Given the description of an element on the screen output the (x, y) to click on. 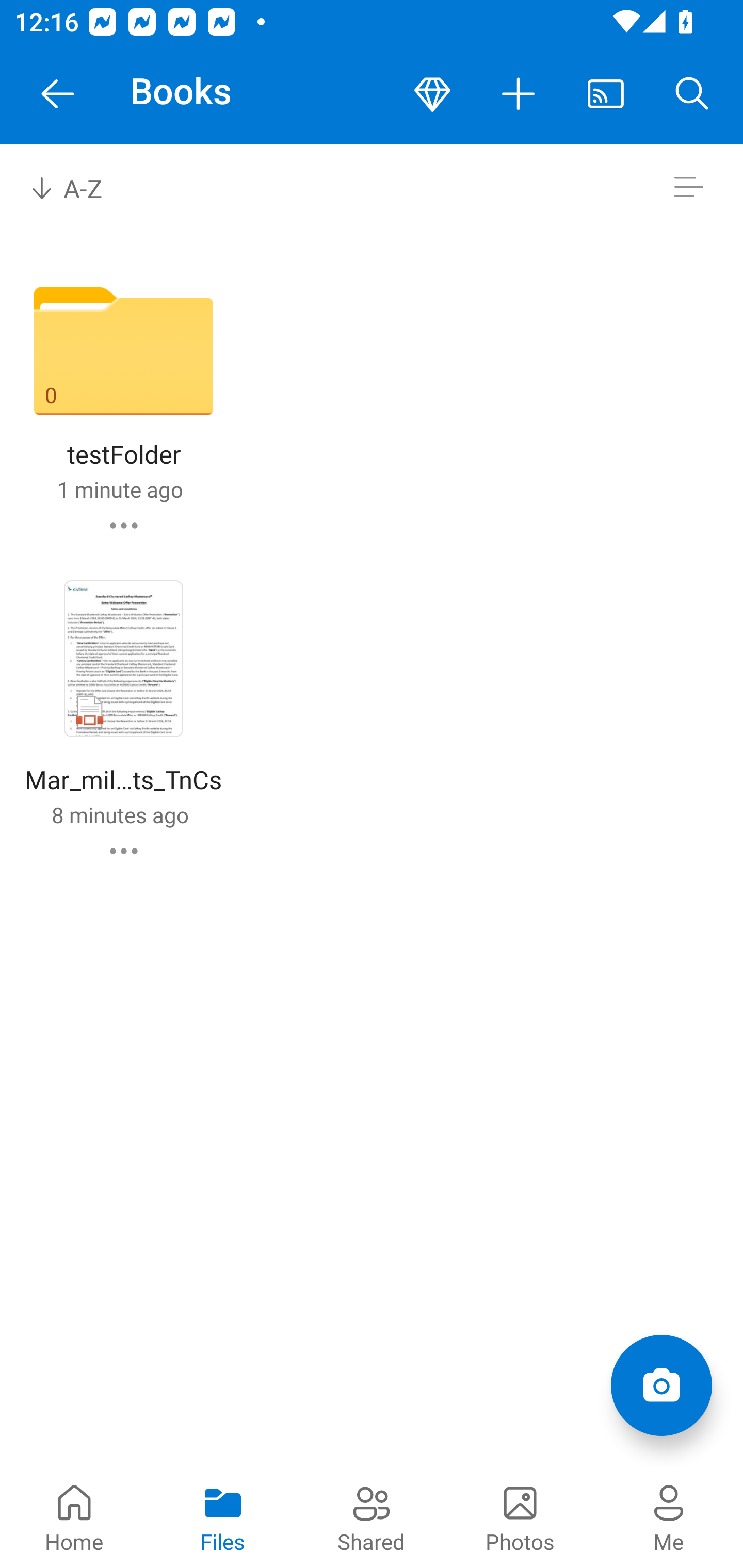
Navigate Up (57, 93)
Cast. Disconnected (605, 93)
Premium button (432, 93)
More actions button (518, 93)
Search button (692, 93)
A-Z Sort by combo box, sort by name, A to Z (80, 187)
Switch to list view (688, 187)
1 minute ago (120, 489)
testFolder commands (123, 525)
8 minutes ago (119, 814)
Mar_miles_cathaycredits_TnCs commands (123, 851)
Add items Scan (660, 1385)
Home pivot Home (74, 1517)
Shared pivot Shared (371, 1517)
Photos pivot Photos (519, 1517)
Me pivot Me (668, 1517)
